Given the description of an element on the screen output the (x, y) to click on. 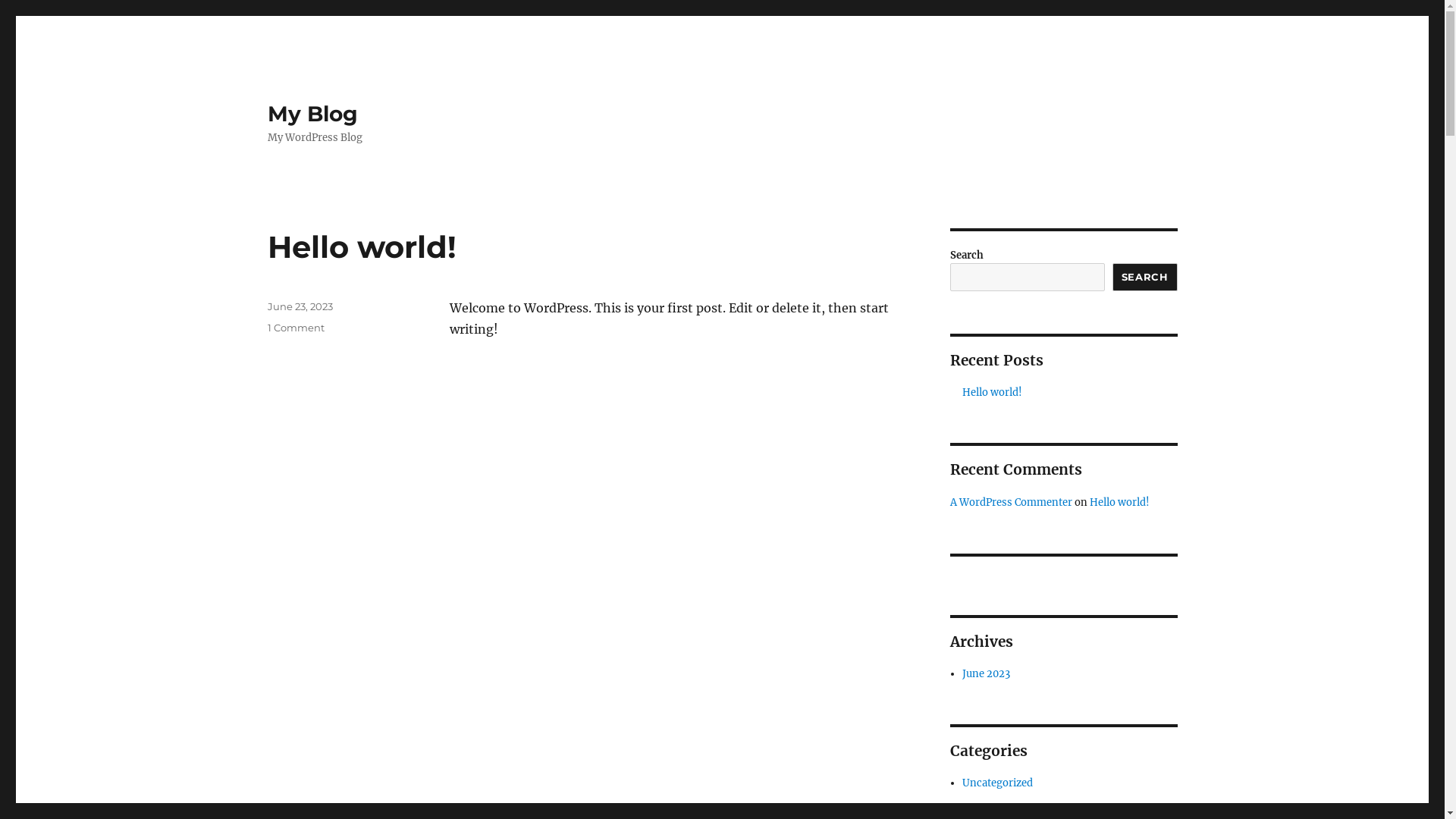
Uncategorized Element type: text (997, 782)
A WordPress Commenter Element type: text (1010, 501)
Hello world! Element type: text (1118, 501)
Hello world! Element type: text (992, 391)
June 2023 Element type: text (986, 673)
SEARCH Element type: text (1144, 277)
1 Comment
on Hello world! Element type: text (294, 327)
My Blog Element type: text (311, 113)
Hello world! Element type: text (360, 246)
June 23, 2023 Element type: text (299, 306)
